Given the description of an element on the screen output the (x, y) to click on. 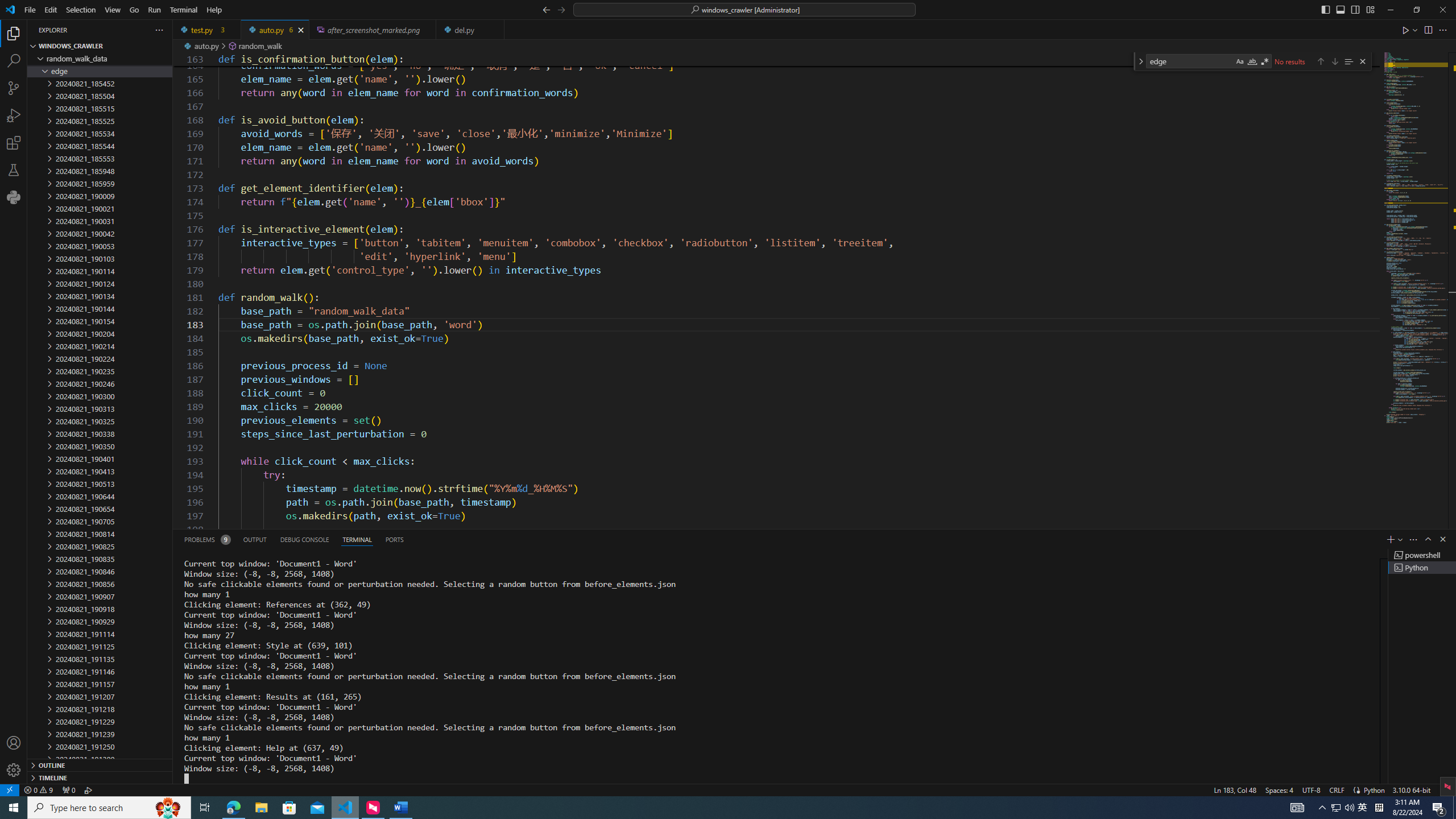
Next Match (Enter) (1333, 60)
Manage (13, 769)
Edit (50, 9)
Views and More Actions... (1412, 539)
Restore (1416, 9)
Go Forward (Alt+RightArrow) (560, 9)
Debug Console (Ctrl+Shift+Y) (304, 539)
Testing (13, 169)
del.py (470, 29)
Accounts (13, 742)
Ln 183, Col 48 (1235, 789)
